Given the description of an element on the screen output the (x, y) to click on. 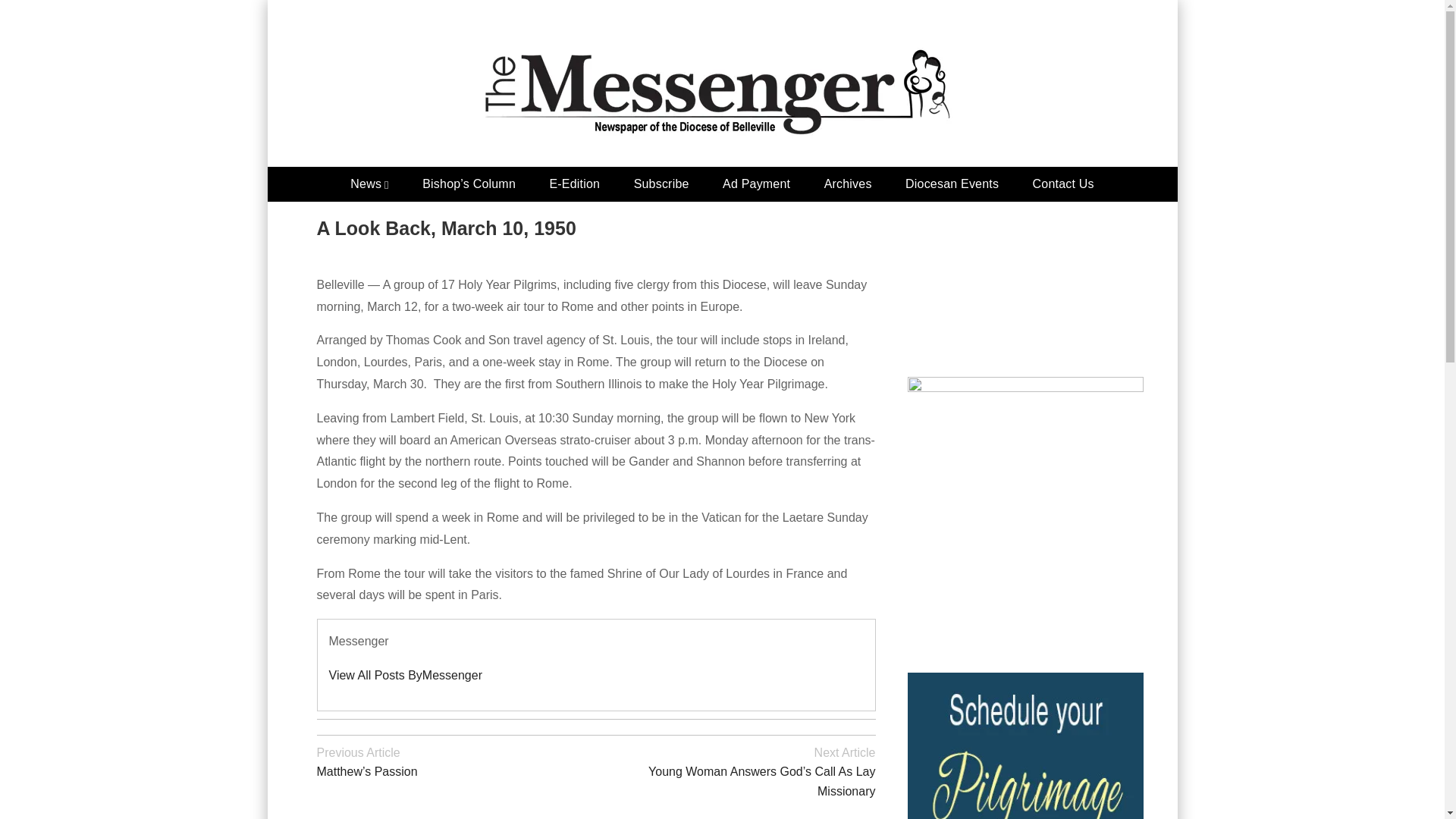
Ad Payment (756, 184)
News (369, 184)
E-Edition (574, 184)
View All Posts ByMessenger (405, 675)
Archives (847, 184)
Subscribe (661, 184)
